Given the description of an element on the screen output the (x, y) to click on. 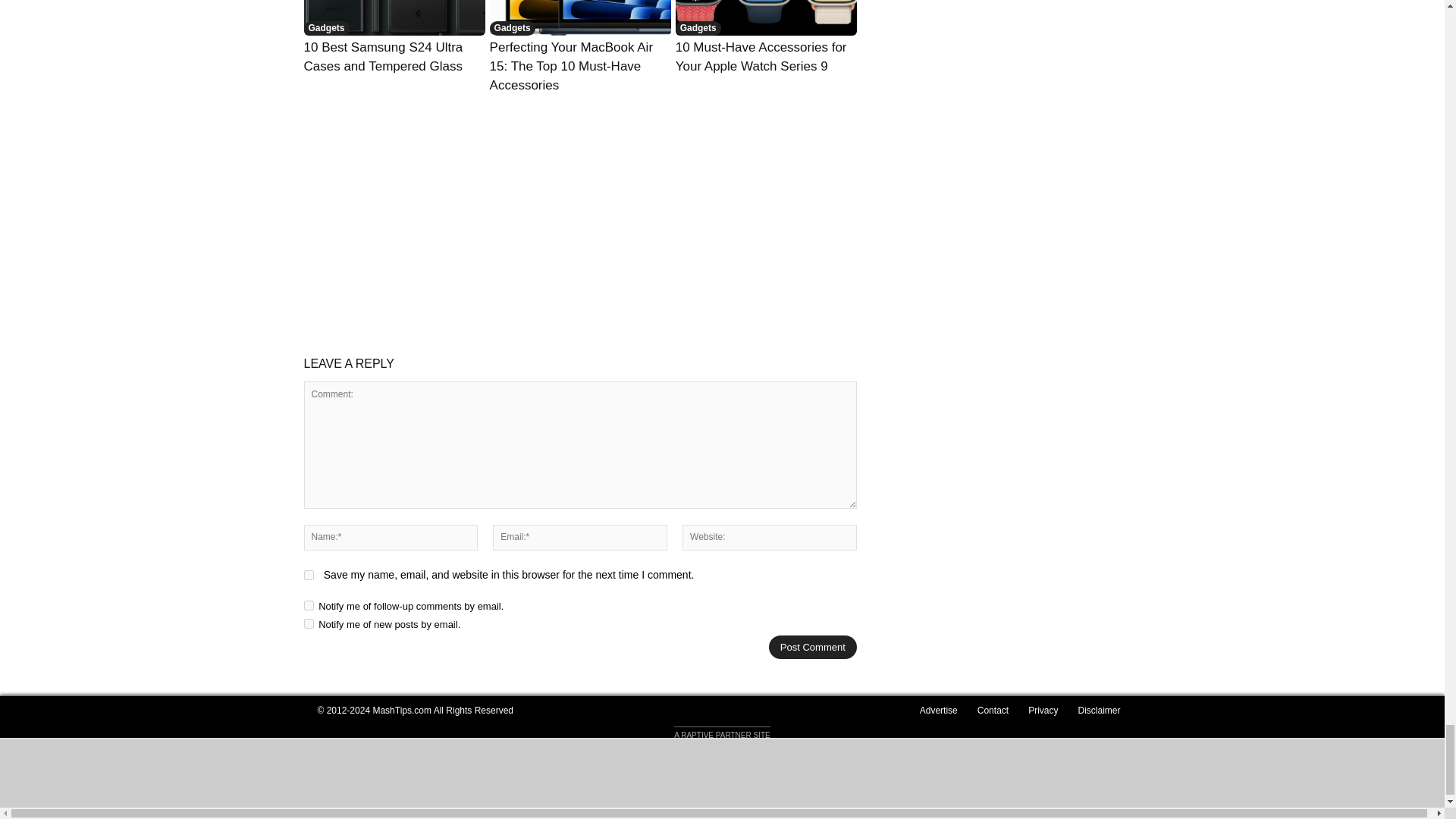
subscribe (307, 623)
yes (307, 574)
Post Comment (812, 647)
subscribe (307, 605)
